Given the description of an element on the screen output the (x, y) to click on. 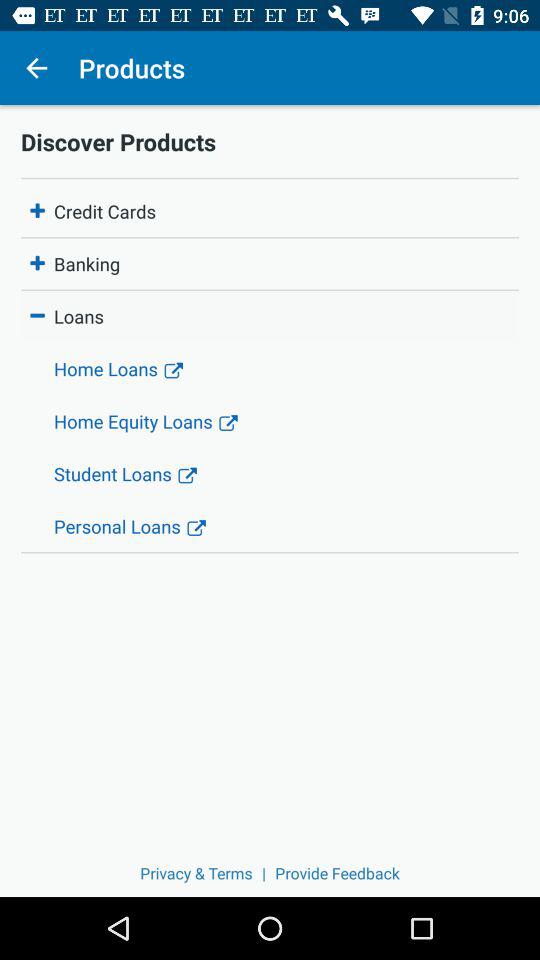
scroll until the discover products item (270, 141)
